Given the description of an element on the screen output the (x, y) to click on. 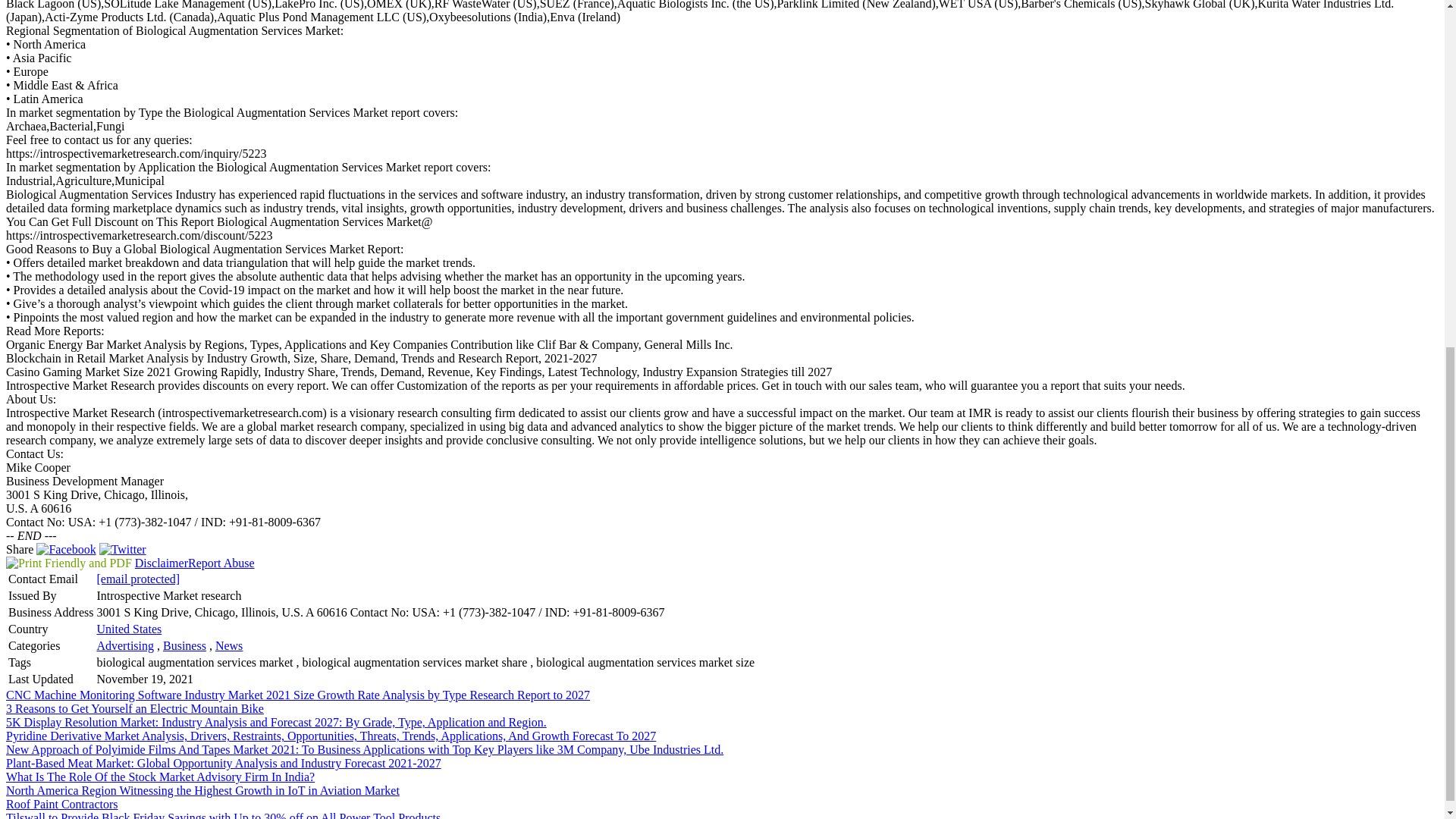
Disclaimer (161, 562)
3 Reasons to Get Yourself an Electric Mountain Bike (134, 707)
Advertising (125, 645)
Business (184, 645)
Roof Paint Contractors (61, 803)
What Is The Role Of the Stock Market Advisory Firm In India? (159, 776)
Report Abuse (220, 562)
Printer Friendly and PDF (68, 562)
News (229, 645)
United States (128, 628)
